Given the description of an element on the screen output the (x, y) to click on. 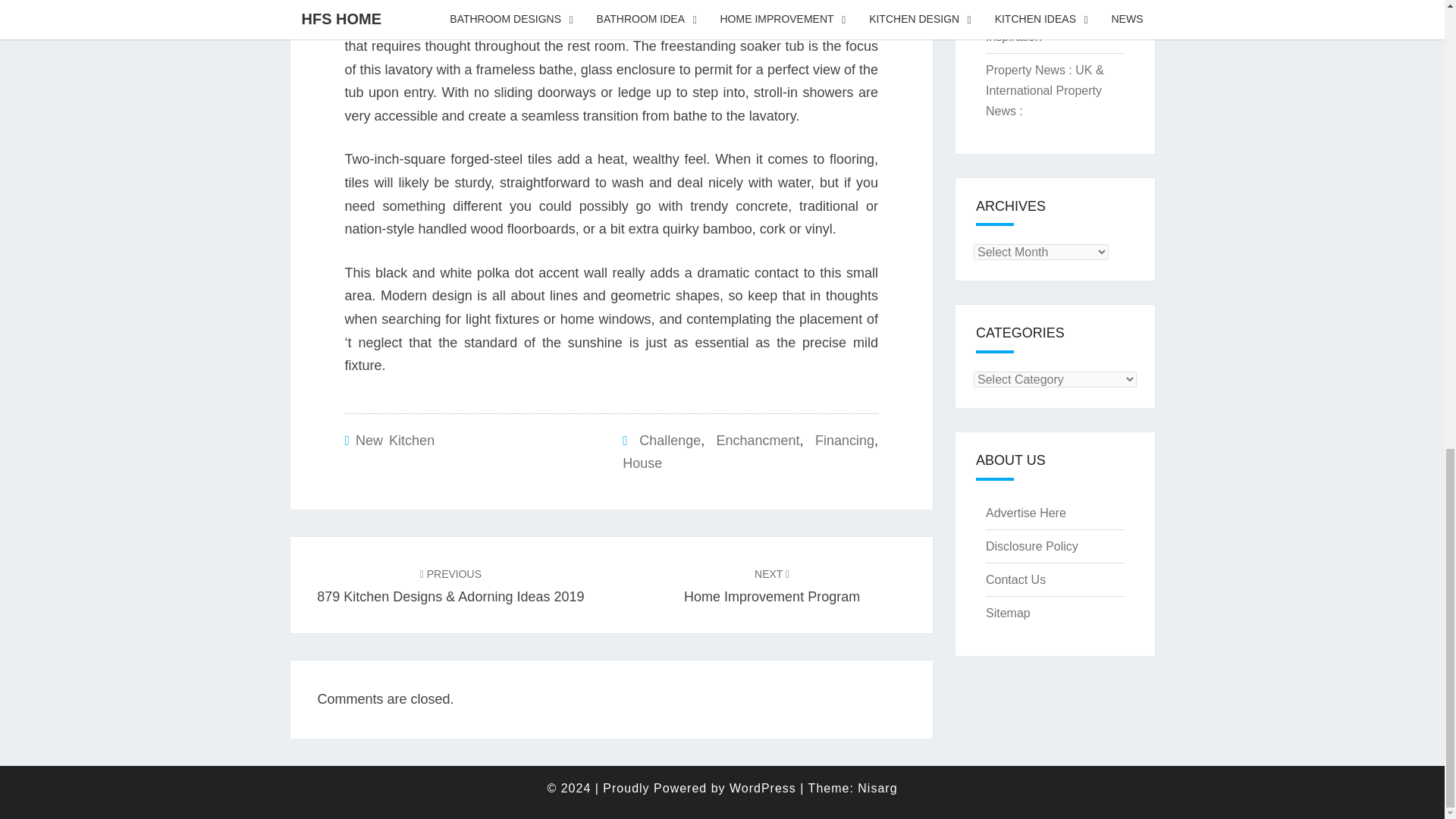
Challenge (669, 440)
New Kitchen (394, 440)
Enchancment (757, 440)
House (772, 584)
Financing (642, 462)
